Given the description of an element on the screen output the (x, y) to click on. 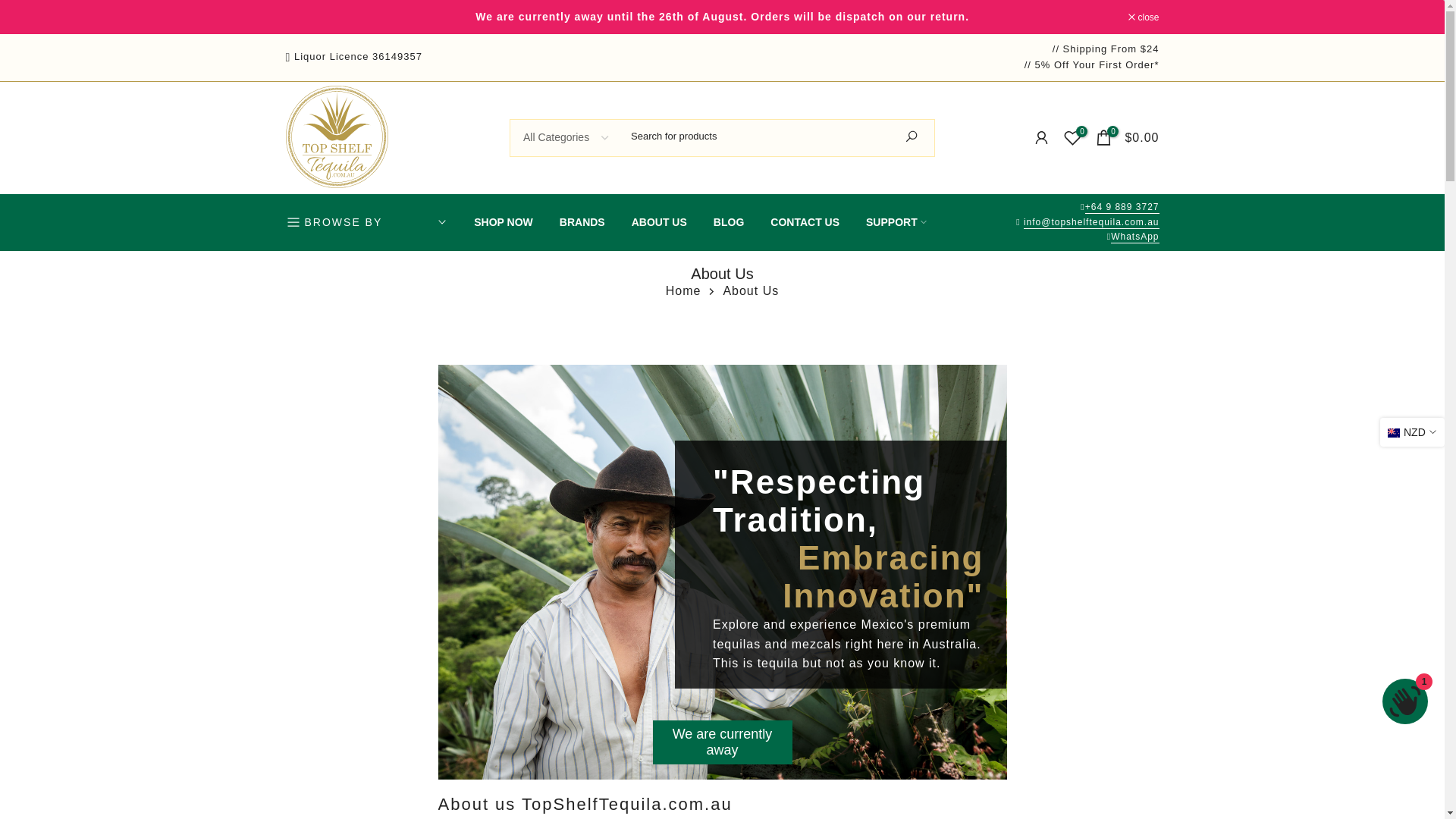
Skip to content (10, 7)
0 (1071, 137)
close (1143, 16)
